Given the description of an element on the screen output the (x, y) to click on. 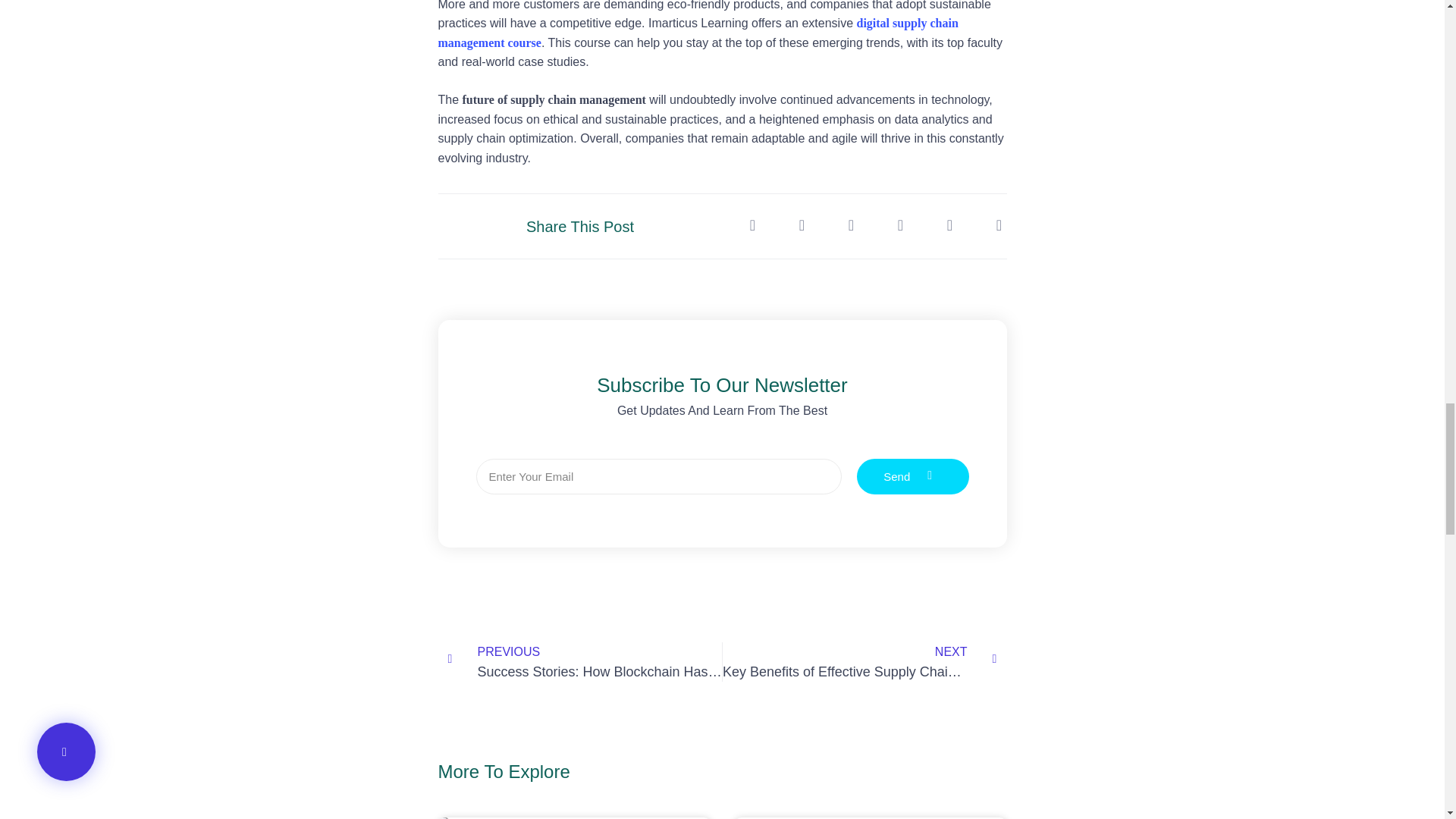
course (523, 42)
Send (864, 661)
digital supply chain management (913, 476)
